Given the description of an element on the screen output the (x, y) to click on. 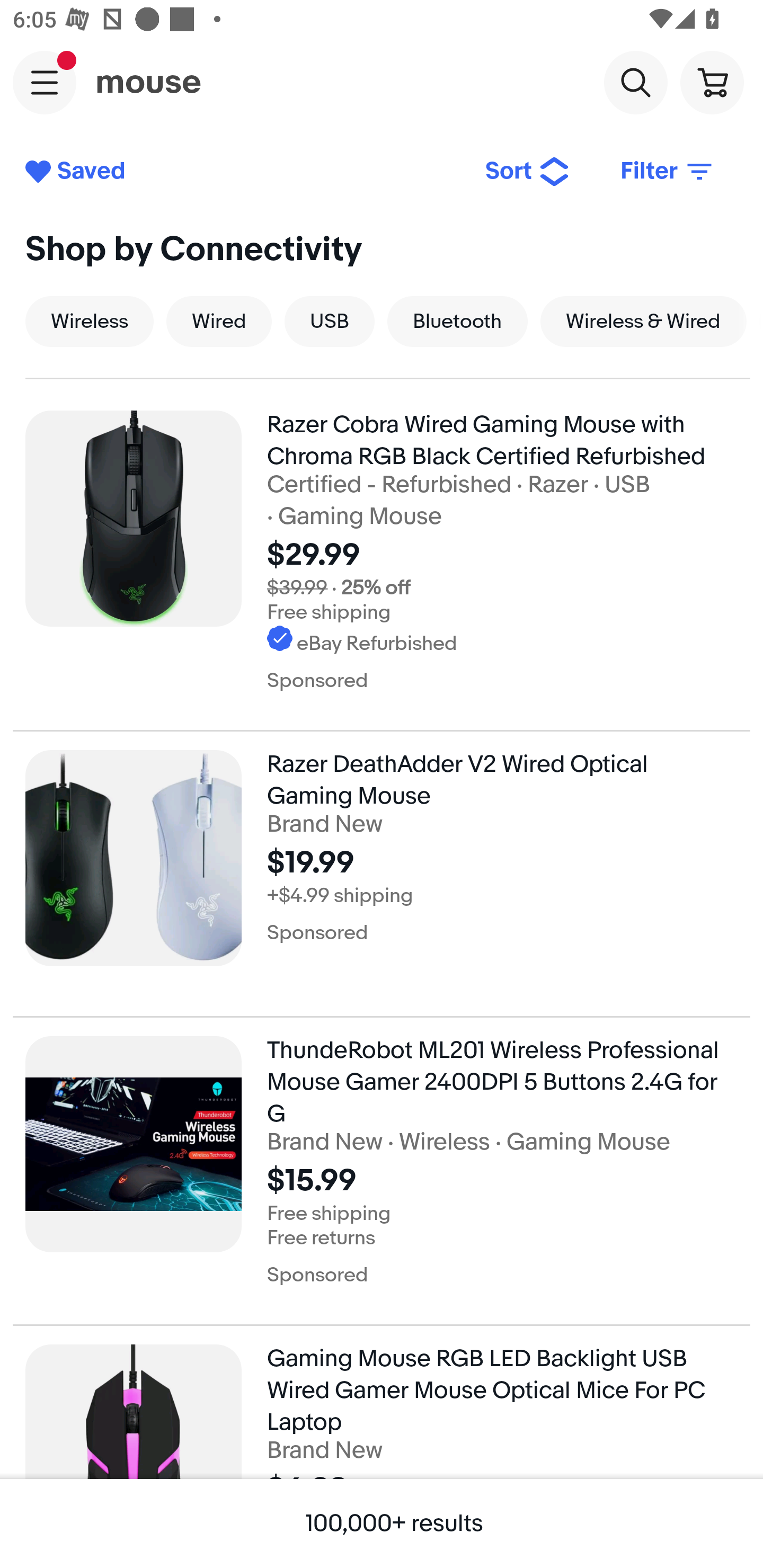
Main navigation, notification is pending, open (44, 82)
Search (635, 81)
Cart button shopping cart (711, 81)
Saved (241, 171)
Sort (527, 171)
Filter (667, 171)
Wireless Wireless, Connectivity (89, 321)
Wired Wired, Connectivity (218, 321)
USB USB, Connectivity (329, 321)
Bluetooth Bluetooth, Connectivity (457, 321)
Wireless & Wired Wireless & Wired, Connectivity (643, 321)
